Given the description of an element on the screen output the (x, y) to click on. 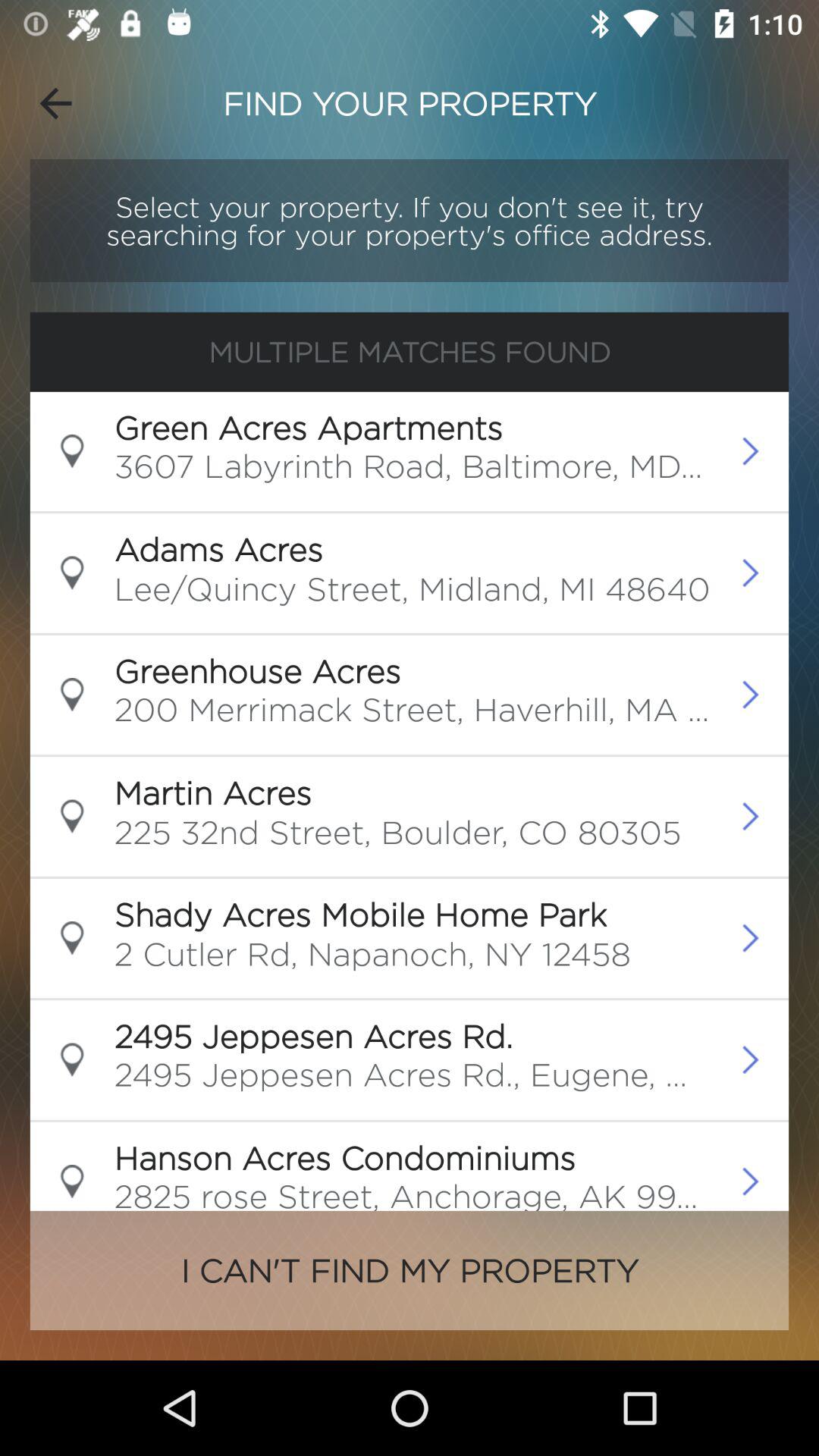
click icon to the left of the find your property (55, 103)
